Given the description of an element on the screen output the (x, y) to click on. 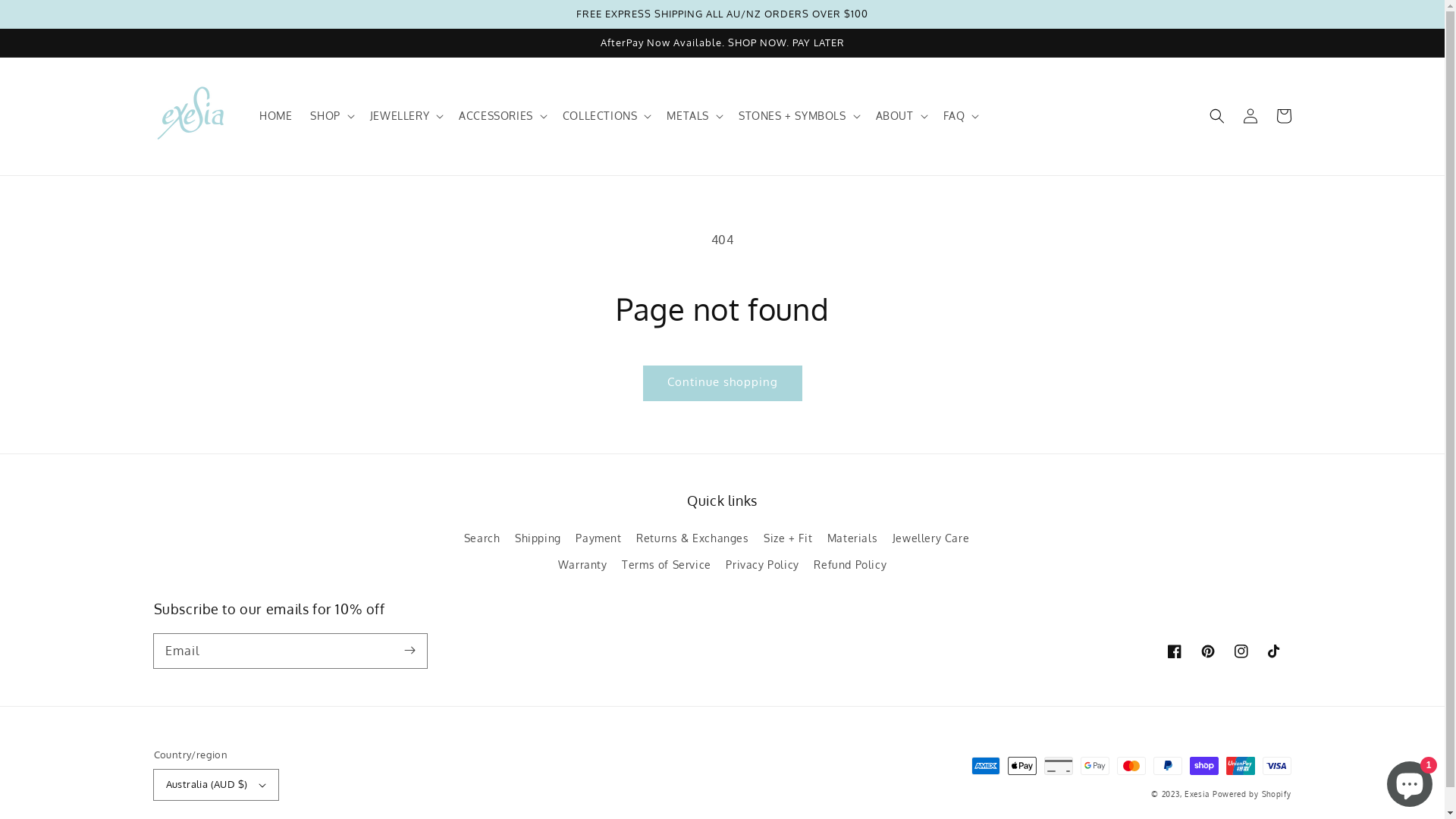
Privacy Policy Element type: text (761, 564)
TikTok Element type: text (1273, 651)
Shipping Element type: text (537, 537)
Cart Element type: text (1282, 115)
Payment Element type: text (598, 537)
Continue shopping Element type: text (721, 383)
Australia (AUD $) Element type: text (215, 784)
Materials Element type: text (852, 537)
Log in Element type: text (1249, 115)
Powered by Shopify Element type: text (1251, 793)
Facebook Element type: text (1173, 651)
Returns & Exchanges Element type: text (692, 537)
Warranty Element type: text (582, 564)
Size + Fit Element type: text (787, 537)
Refund Policy Element type: text (849, 564)
Instagram Element type: text (1240, 651)
Terms of Service Element type: text (666, 564)
Jewellery Care Element type: text (930, 537)
Search Element type: text (482, 539)
Shopify online store chat Element type: hover (1409, 780)
HOME Element type: text (275, 115)
Pinterest Element type: text (1206, 651)
Exesia Element type: text (1198, 793)
